Given the description of an element on the screen output the (x, y) to click on. 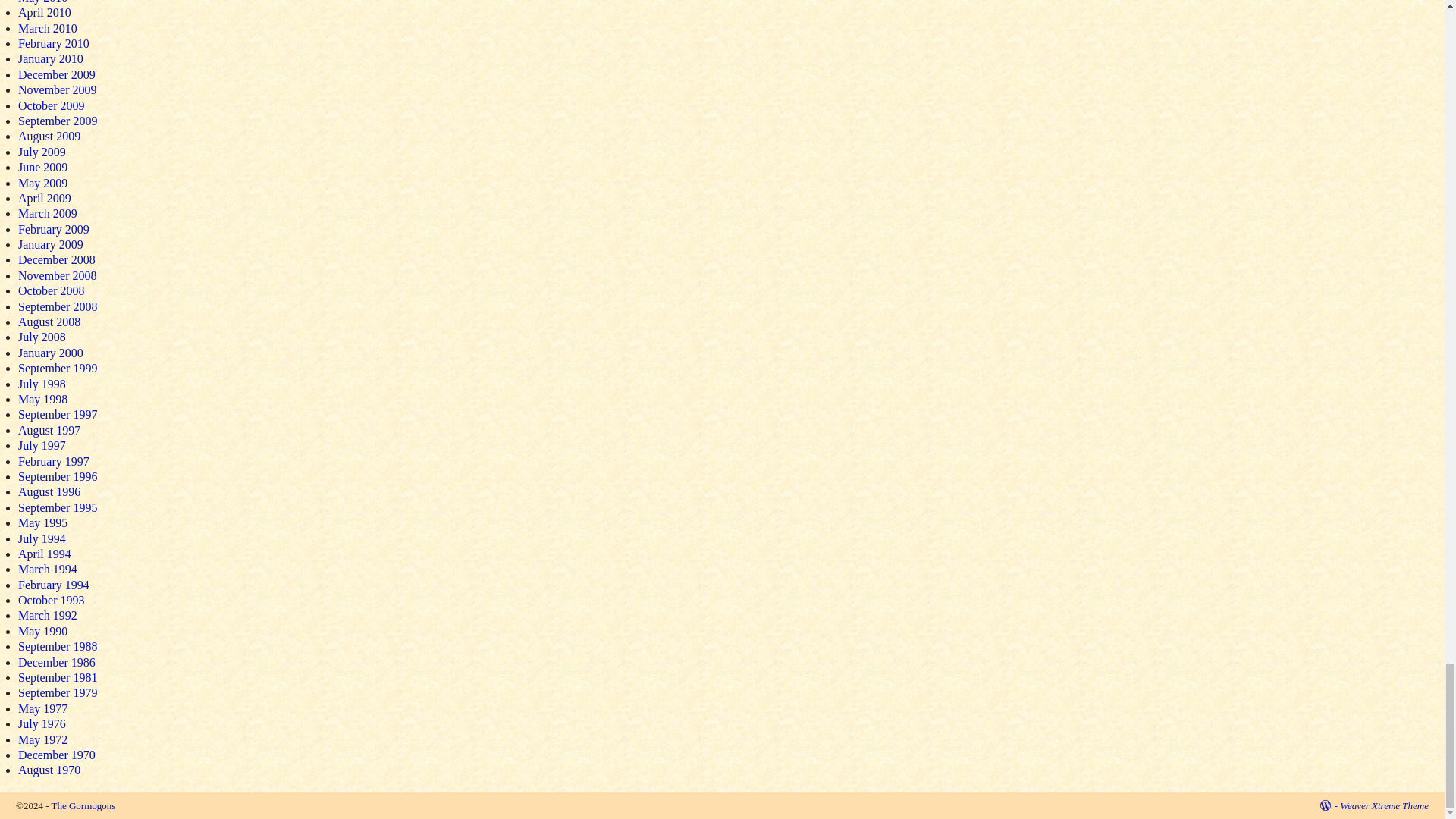
Proudly powered by WordPress (1329, 805)
The Gormogons (82, 805)
Weaver Xtreme Theme (1383, 805)
